Given the description of an element on the screen output the (x, y) to click on. 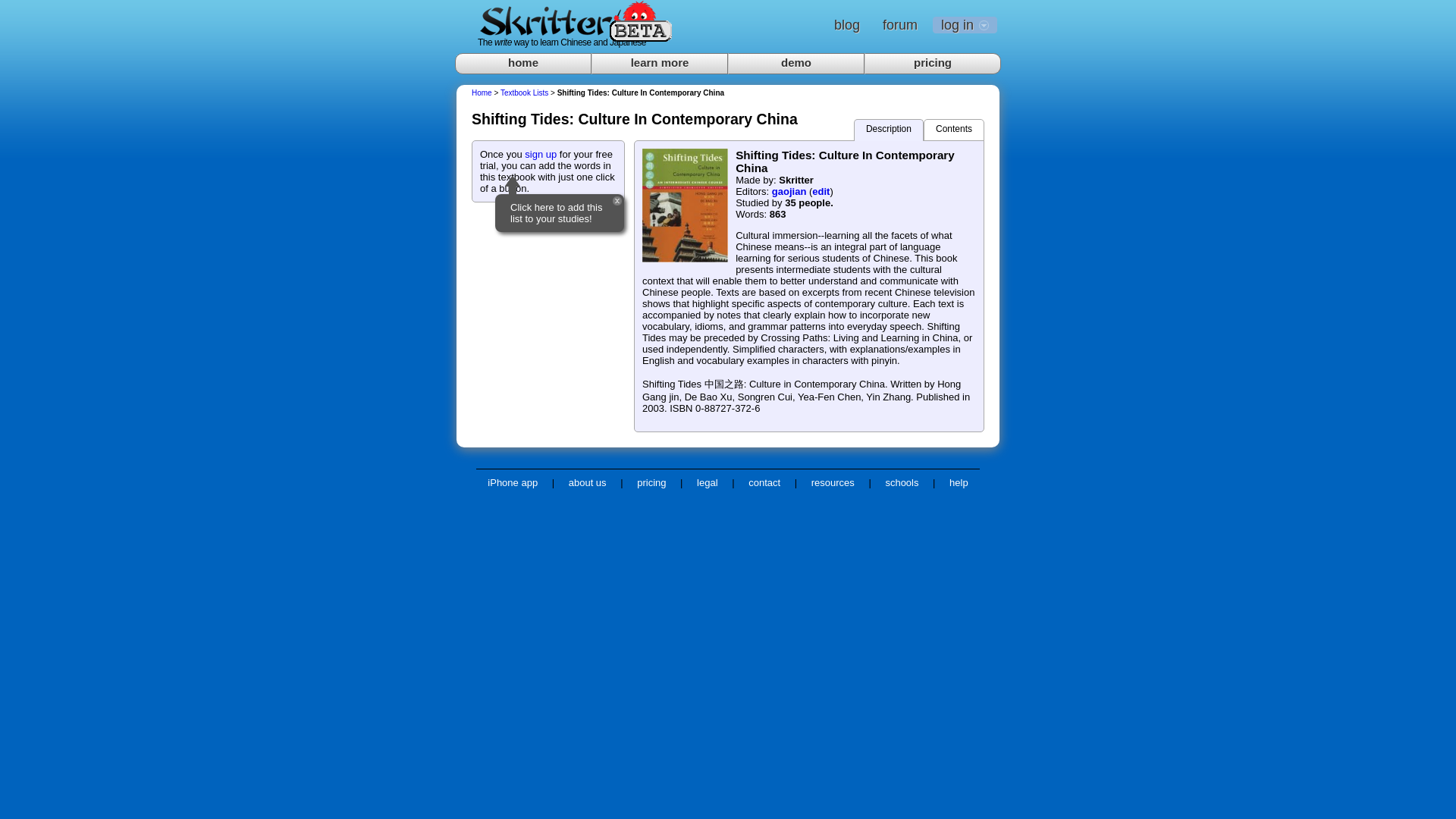
legal (707, 482)
iPhone app (512, 482)
contact (764, 482)
pricing (651, 482)
pricing (932, 63)
demo (796, 63)
forum (899, 24)
resources (832, 482)
about us (587, 482)
Home (481, 92)
schools (901, 482)
learn more (659, 63)
home (522, 63)
blog (847, 24)
log in (965, 24)
